Given the description of an element on the screen output the (x, y) to click on. 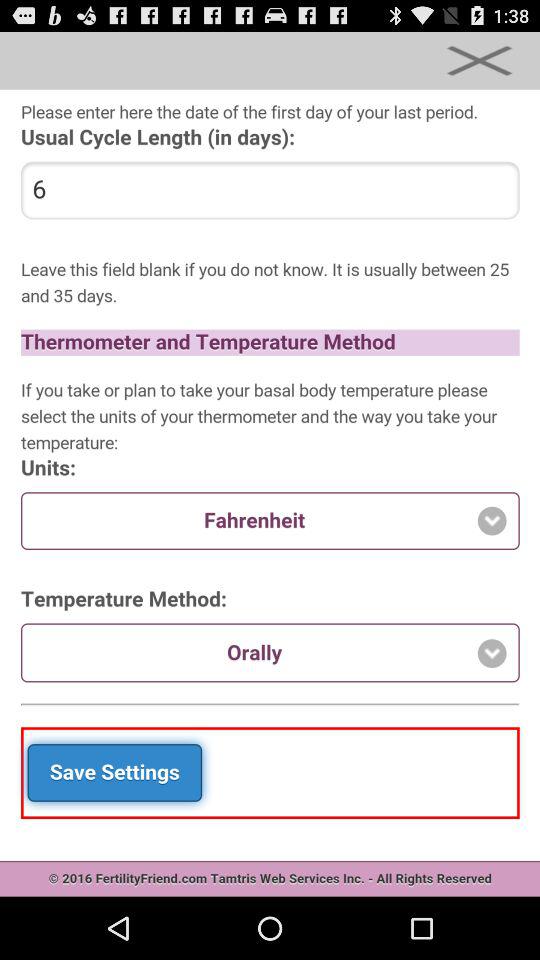
fertility app content (270, 493)
